Given the description of an element on the screen output the (x, y) to click on. 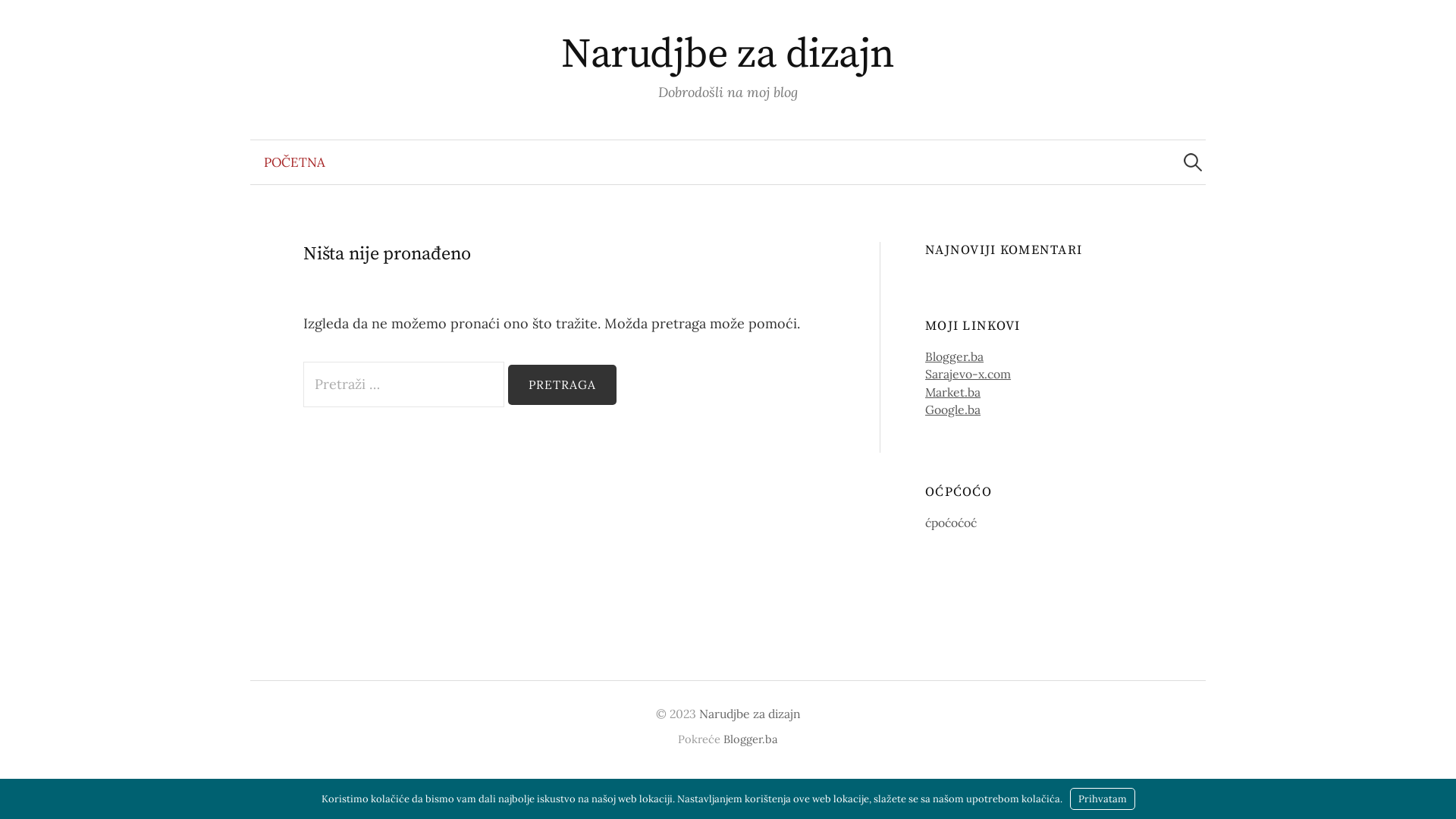
Blogger.ba Element type: text (954, 356)
Pretraga Element type: text (562, 384)
Pretraga Element type: text (18, 18)
Sarajevo-x.com Element type: text (967, 373)
Narudjbe za dizajn Element type: text (749, 713)
Prihvatam Element type: text (1101, 798)
Google.ba Element type: text (952, 409)
Narudjbe za dizajn Element type: text (727, 54)
Blogger.ba Element type: text (750, 738)
Market.ba Element type: text (952, 391)
